Given the description of an element on the screen output the (x, y) to click on. 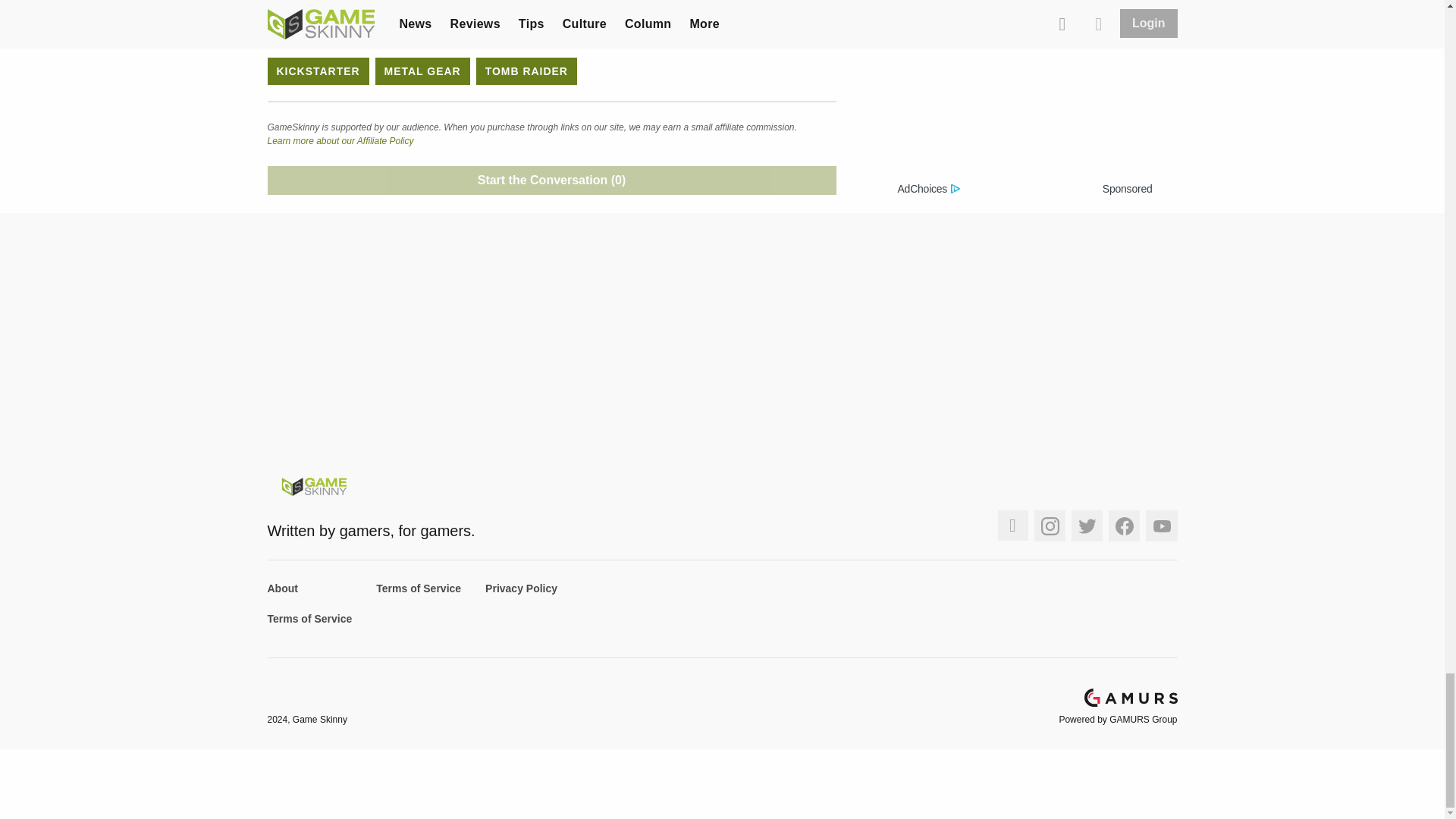
ad content (1025, 89)
